Given the description of an element on the screen output the (x, y) to click on. 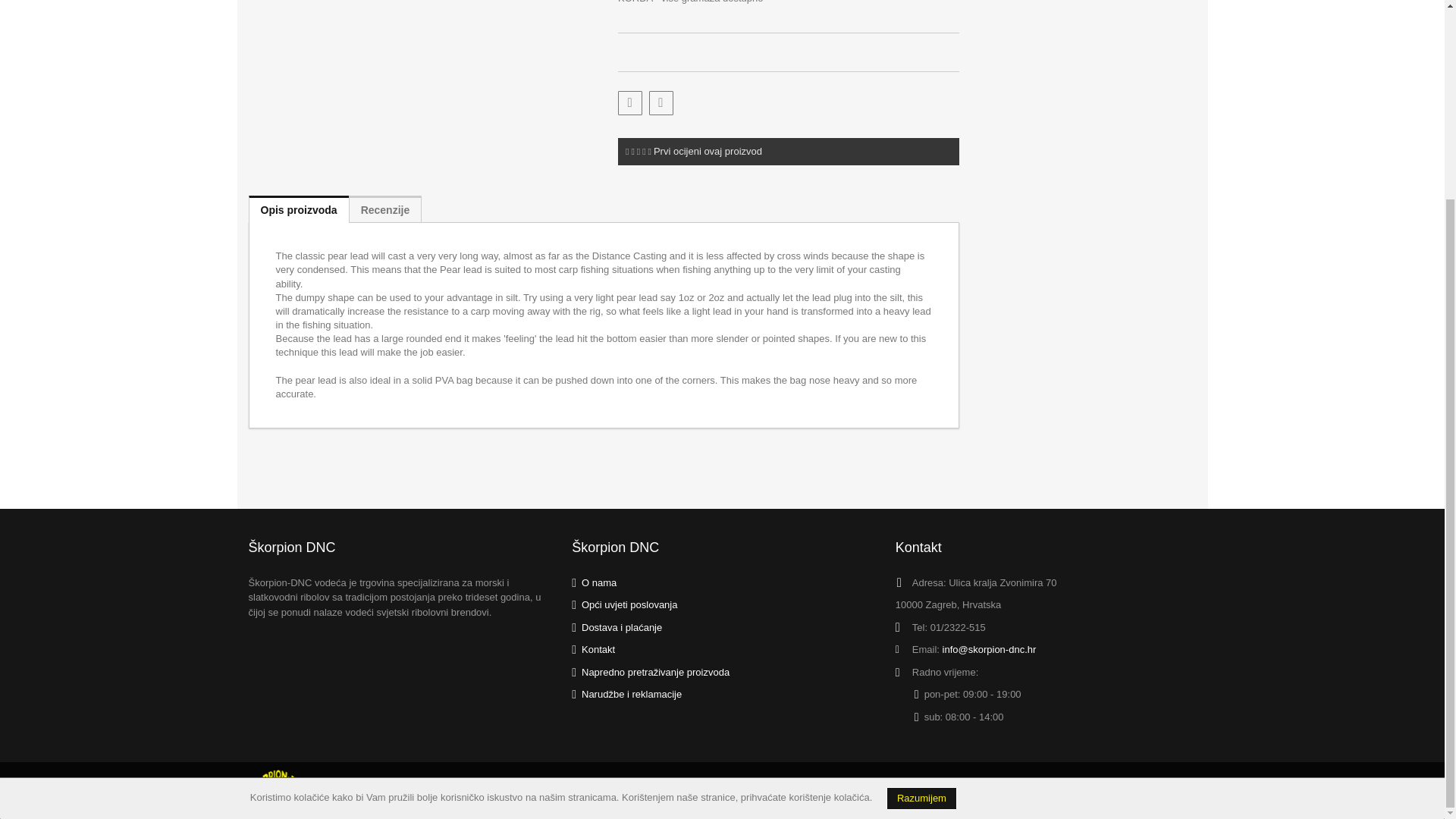
Razumijem (921, 544)
Dodaj za usporedbu (660, 102)
